Given the description of an element on the screen output the (x, y) to click on. 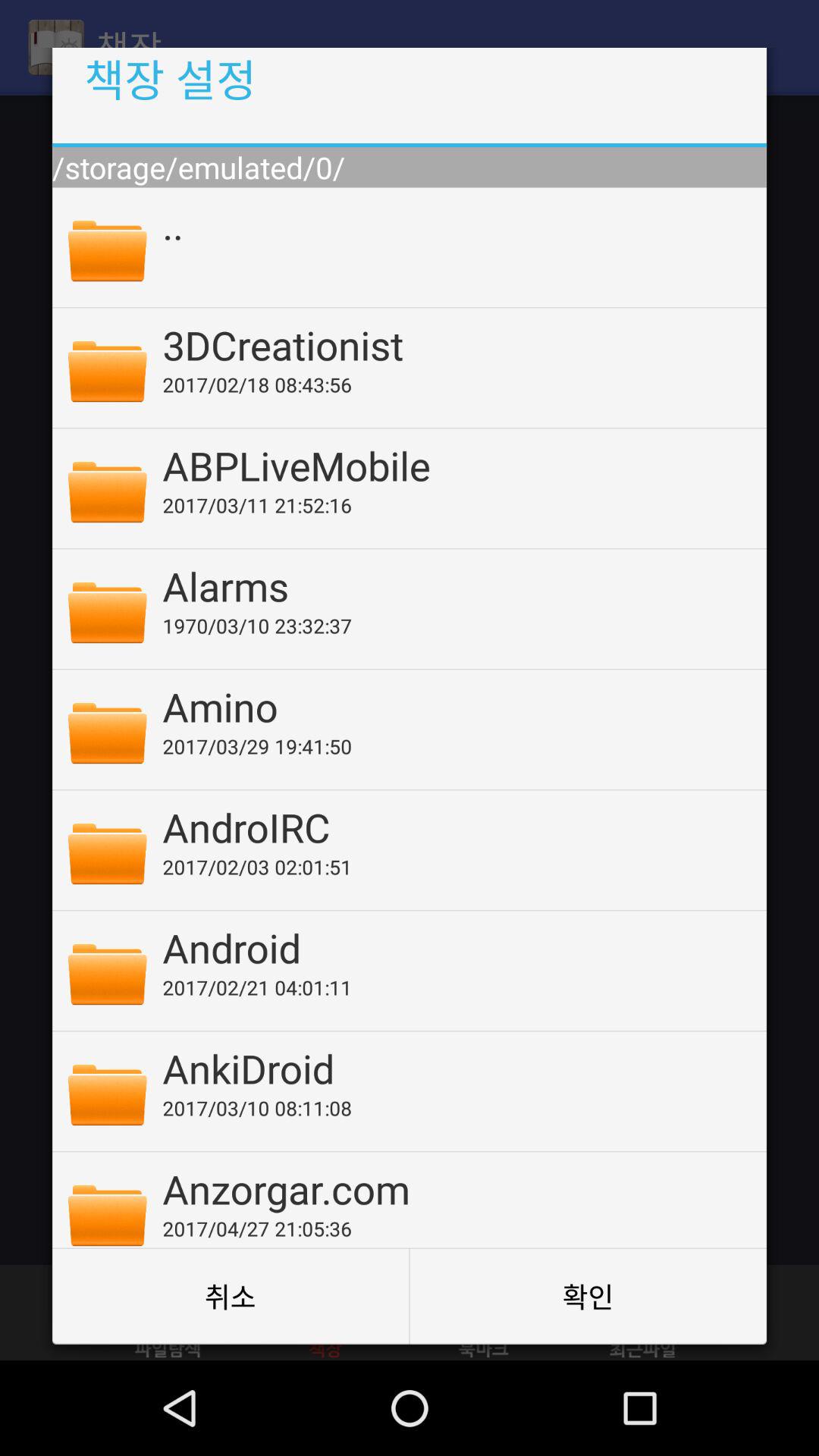
swipe until amino (454, 706)
